Given the description of an element on the screen output the (x, y) to click on. 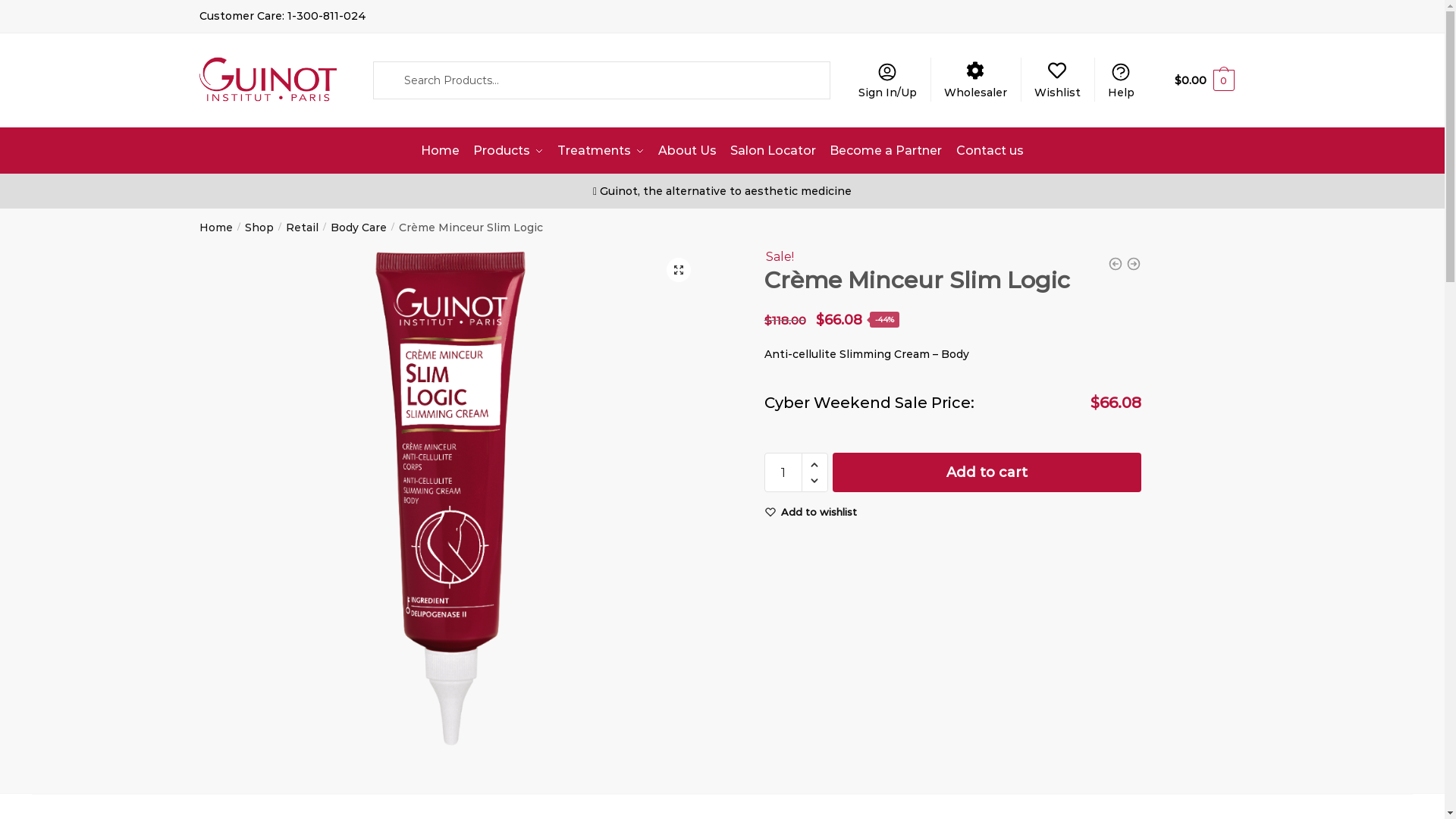
Contact us Element type: text (989, 150)
Slim Logic 125 Element type: hover (450, 498)
Shop Element type: text (258, 227)
Retail Element type: text (301, 227)
Add to cart Element type: text (986, 472)
Wholesaler Element type: text (975, 79)
Home Element type: text (440, 150)
Help Element type: text (1120, 79)
$0.00 0 Element type: text (1204, 79)
1-300-811-024 Element type: text (325, 15)
About Us Element type: text (687, 150)
Salon Locator Element type: text (773, 150)
Sign In/Up Element type: text (887, 79)
Become a Partner Element type: text (886, 150)
Add to wishlist Element type: text (818, 511)
Body Care Element type: text (358, 227)
Treatments Element type: text (600, 150)
Products Element type: text (508, 150)
Home Element type: text (215, 227)
Wishlist Element type: text (1057, 79)
